Given the description of an element on the screen output the (x, y) to click on. 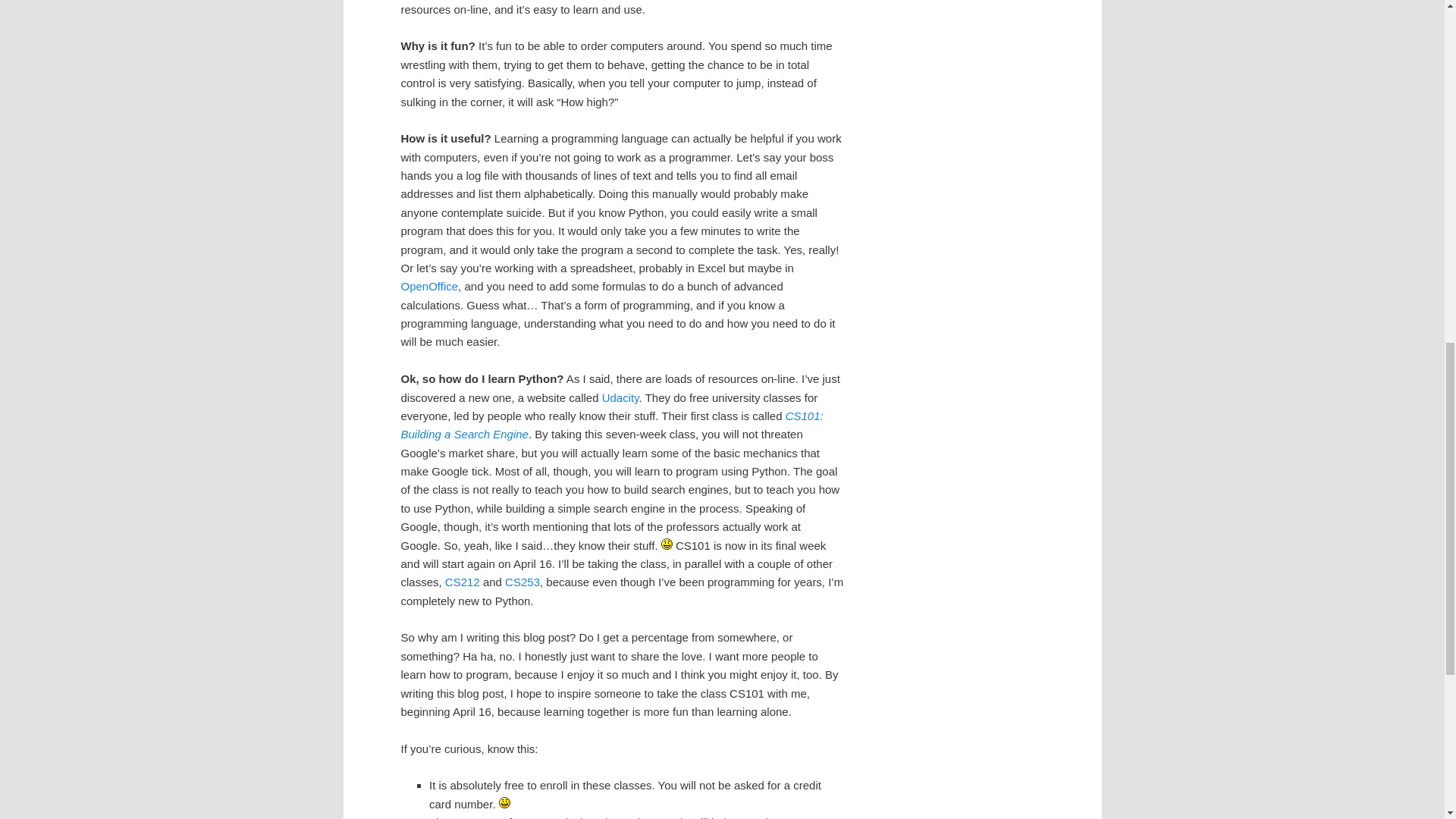
OpenOffice (429, 286)
CS101: Building a Search Engine (611, 424)
CS253 (522, 581)
Udacity (620, 397)
CS212 (462, 581)
